Given the description of an element on the screen output the (x, y) to click on. 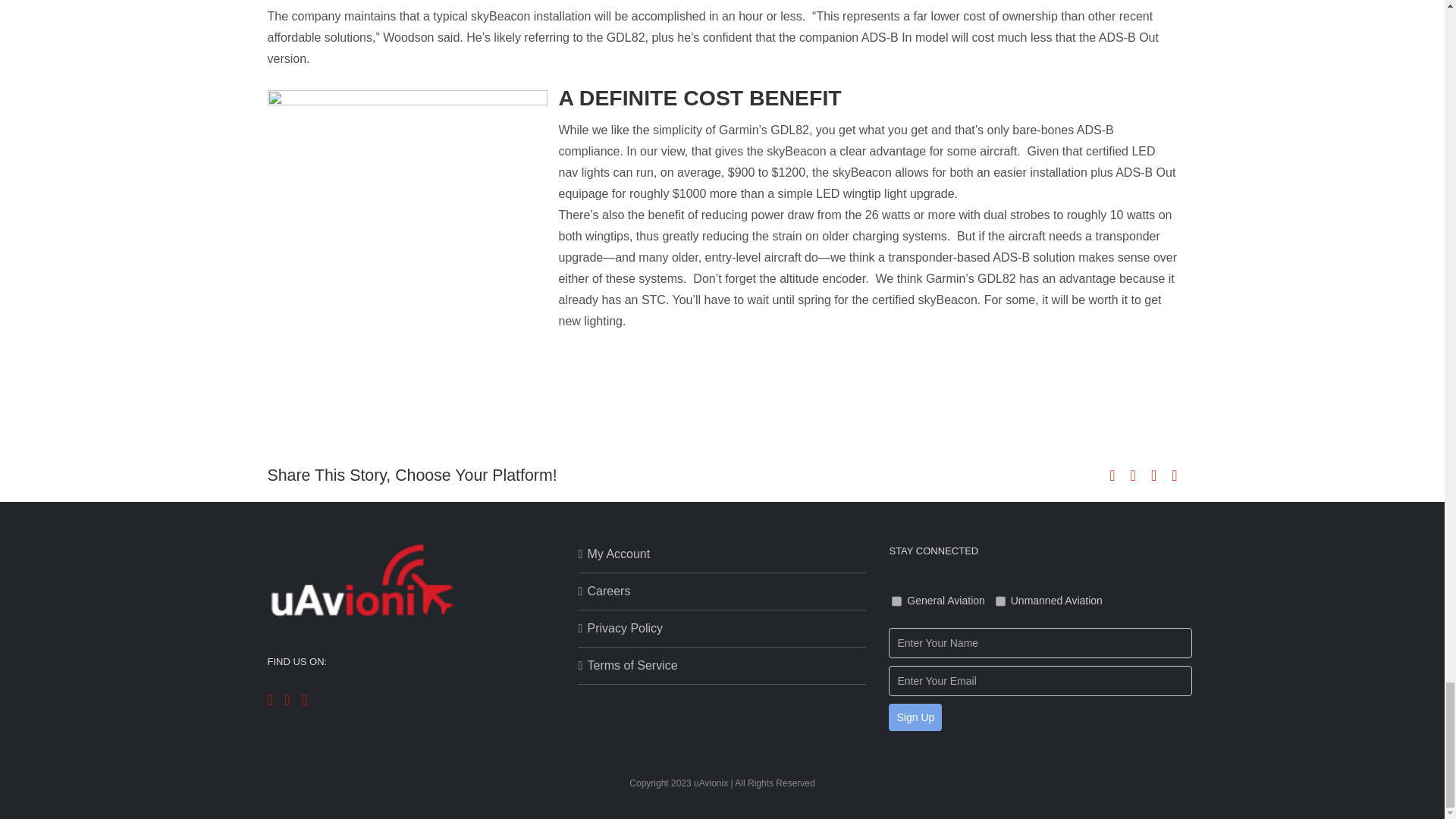
Facebook (269, 699)
Email (1174, 475)
LinkedIn (1153, 475)
Twitter (1133, 475)
2 (1000, 601)
LinkedIn (304, 699)
Facebook (1112, 475)
Twitter (286, 699)
1 (896, 601)
